Given the description of an element on the screen output the (x, y) to click on. 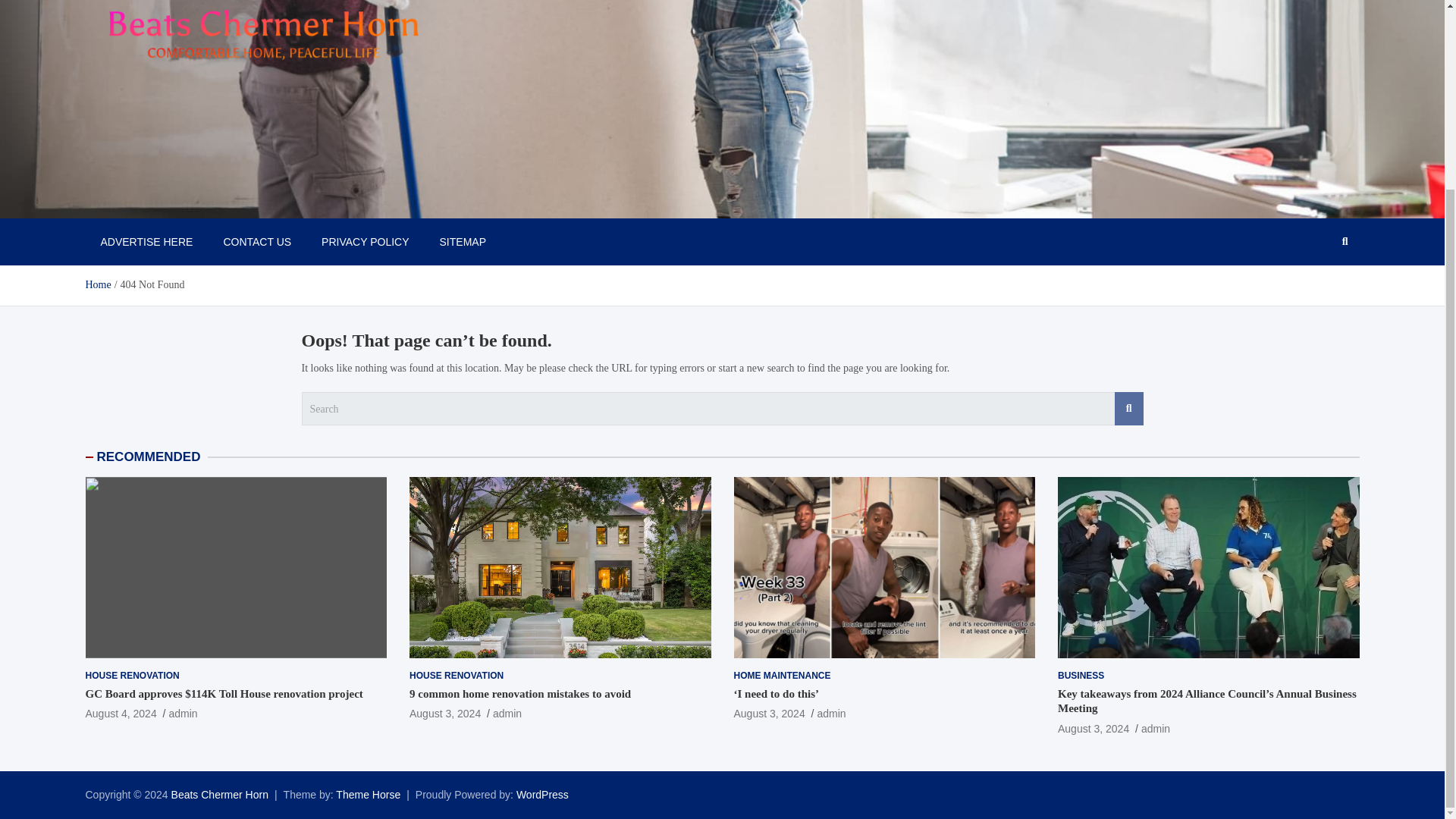
HOUSE RENOVATION (456, 676)
HOUSE RENOVATION (131, 676)
admin (507, 713)
August 3, 2024 (1093, 728)
WordPress (542, 794)
9 common home renovation mistakes to avoid (444, 713)
August 3, 2024 (769, 713)
Theme Horse (368, 794)
admin (182, 713)
Theme Horse (368, 794)
